Given the description of an element on the screen output the (x, y) to click on. 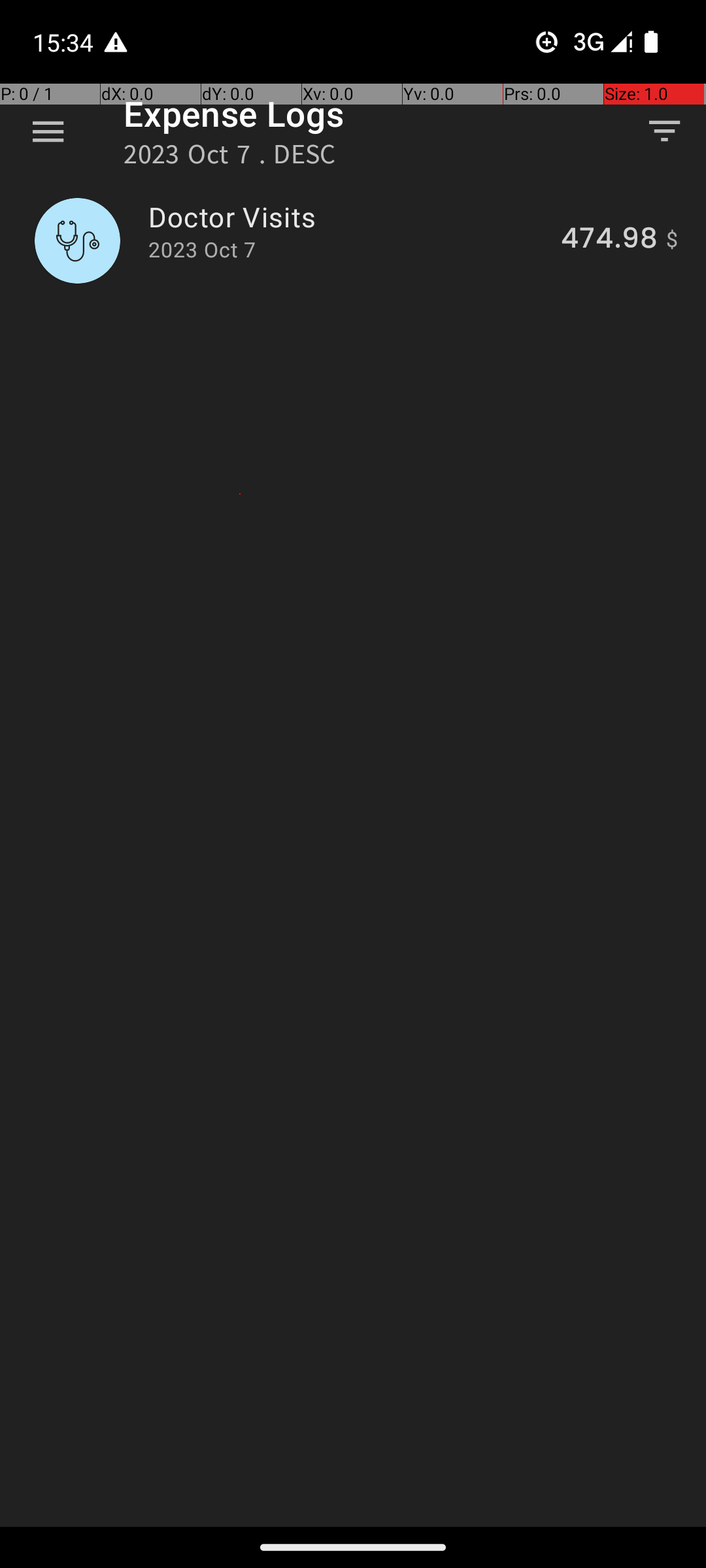
Expense Logs Element type: android.widget.TextView (233, 113)
2023 Oct 7 . DESC Element type: android.widget.TextView (229, 157)
Filter Element type: android.widget.TextView (664, 131)
Doctor Visits Element type: android.widget.TextView (346, 216)
2023 Oct 7 Element type: android.widget.TextView (201, 249)
474.98 Element type: android.widget.TextView (609, 240)
$ Element type: android.widget.TextView (671, 240)
